Given the description of an element on the screen output the (x, y) to click on. 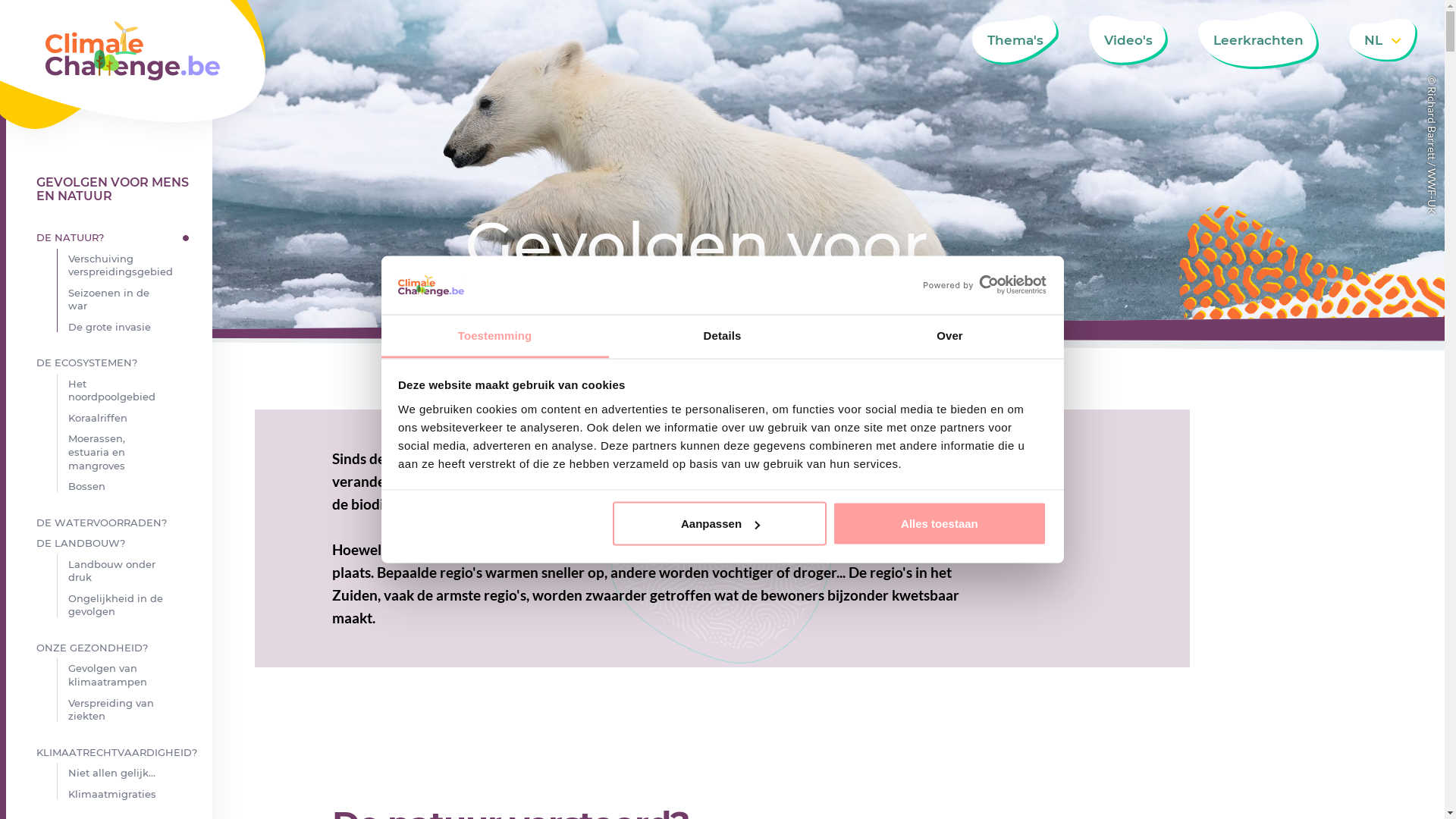
Bossen Element type: text (131, 486)
Details Element type: text (721, 335)
Het noordpoolgebied Element type: text (131, 390)
DE LANDBOUW? Element type: text (115, 543)
Toestemming Element type: text (494, 335)
Koraalriffen Element type: text (131, 418)
Aanpassen Element type: text (719, 524)
Verspreiding van ziekten Element type: text (131, 710)
Seizoenen in de war Element type: text (131, 299)
DE WATERVOORRADEN? Element type: text (115, 522)
Niet allen gelijk... Element type: text (131, 773)
Over Element type: text (949, 335)
Alles toestaan Element type: text (939, 524)
KLIMAATRECHTVAARDIGHEID? Element type: text (115, 752)
DE NATUUR? Element type: text (115, 237)
Gevolgen van klimaatrampen Element type: text (131, 675)
Thema's Element type: text (1015, 40)
Moerassen, estuaria en mangroves Element type: text (131, 452)
Verschuiving verspreidingsgebied Element type: text (131, 265)
NL Element type: text (1383, 40)
Klimaatmigraties Element type: text (131, 794)
Landbouw onder druk Element type: text (131, 571)
Video's Element type: text (1127, 40)
DE ECOSYSTEMEN? Element type: text (115, 362)
ONZE GEZONDHEID? Element type: text (115, 647)
Ongelijkheid in de gevolgen Element type: text (131, 605)
Leerkrachten Element type: text (1258, 40)
De grote invasie Element type: text (131, 327)
